Given the description of an element on the screen output the (x, y) to click on. 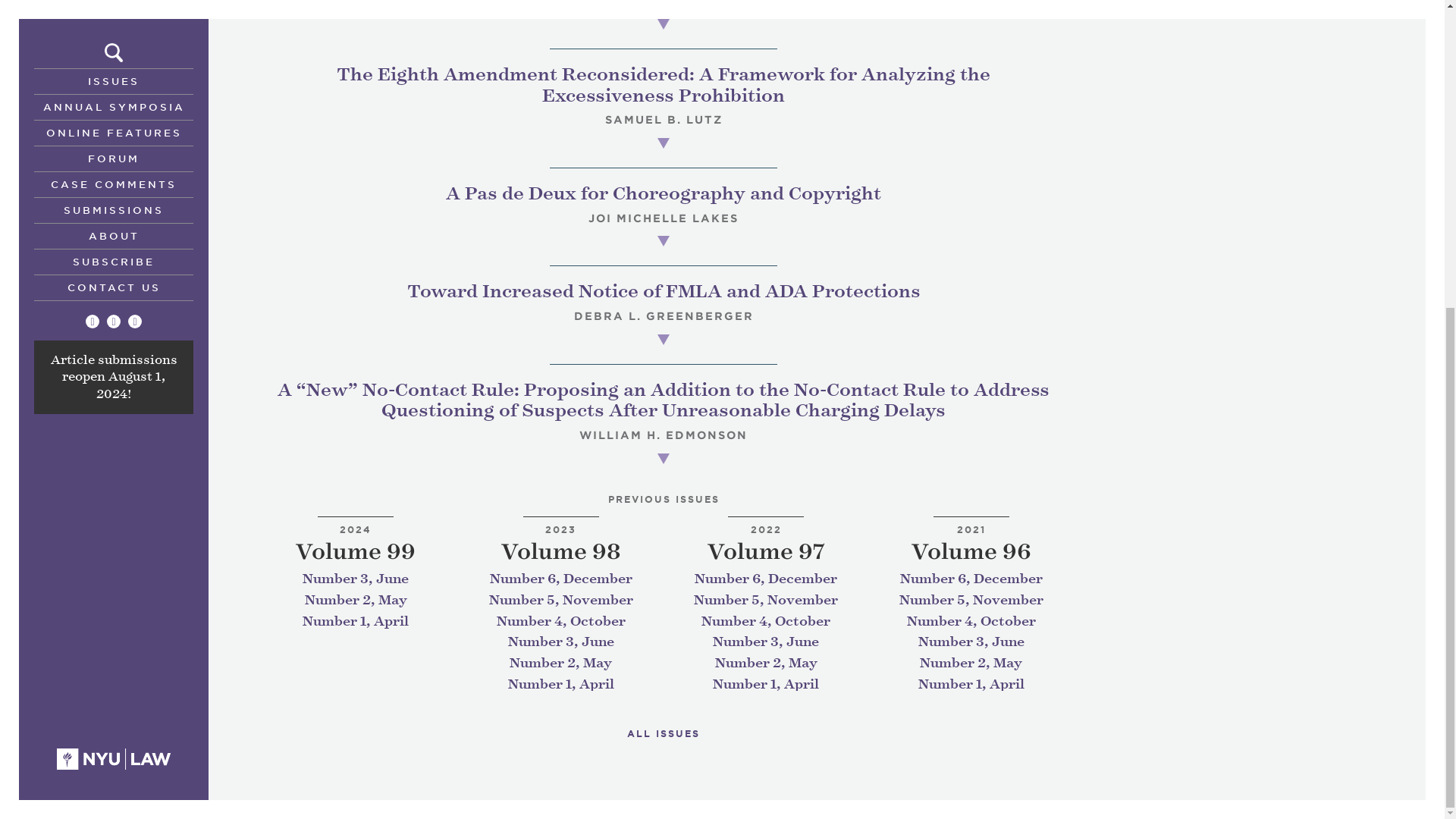
WILLIAM H. EDMONSON (663, 435)
Toward Increased Notice of FMLA and ADA Protections (663, 291)
JENNIFER L. OVERBECK (663, 3)
JOI MICHELLE LAKES (663, 218)
Number 3, June (355, 578)
A Pas de Deux for Choreography and Copyright (662, 193)
Number 2, May (355, 599)
SAMUEL B. LUTZ (663, 119)
DEBRA L. GREENBERGER (662, 316)
